Given the description of an element on the screen output the (x, y) to click on. 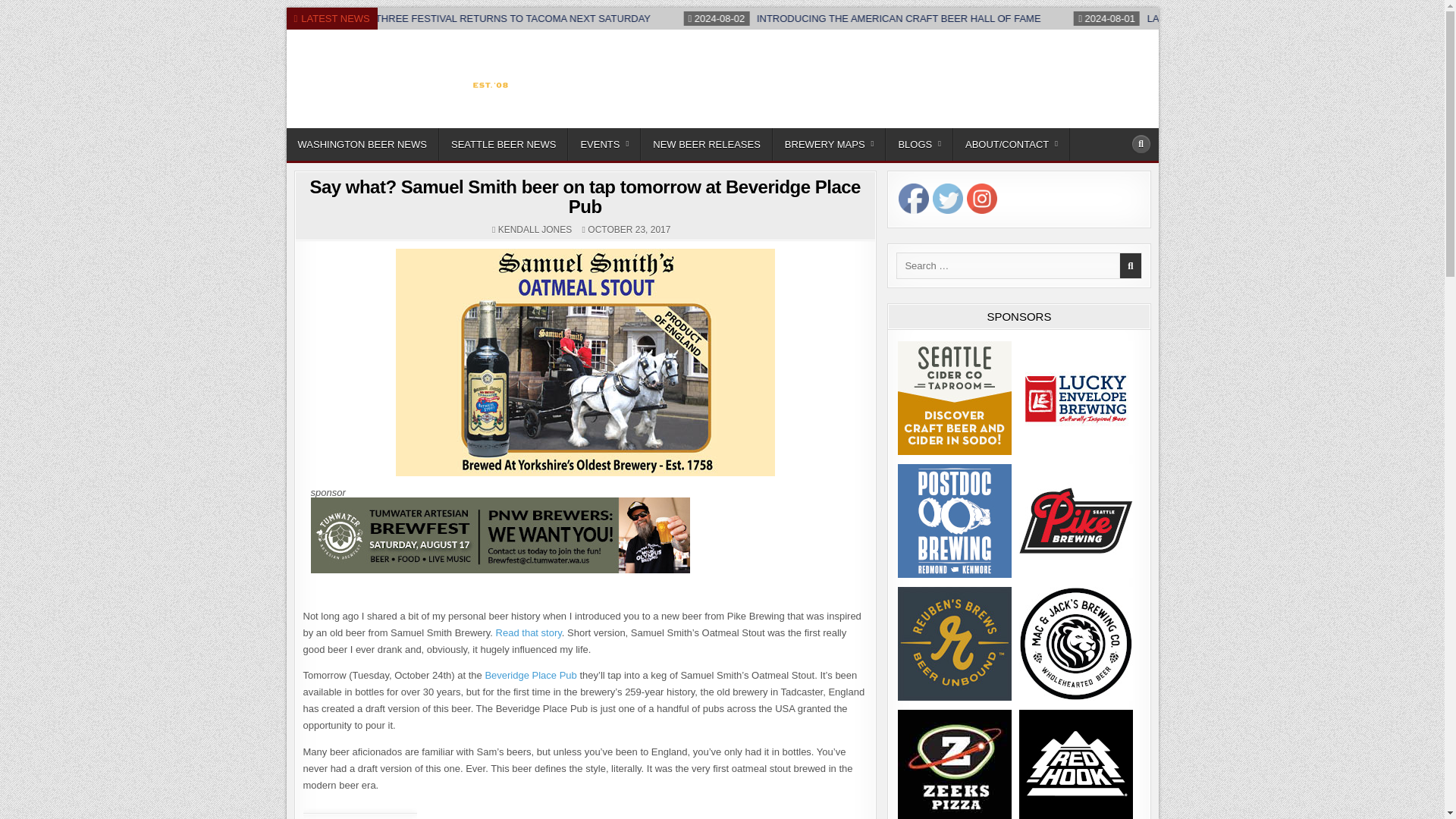
 2024-08-02 INTRODUCING THE AMERICAN CRAFT BEER HALL OF FAME (1004, 18)
The Washington Beer Blog (400, 124)
EVENTS (603, 143)
NEW BEER RELEASES (706, 143)
SEATTLE BEER NEWS (503, 143)
BREWERY MAPS (829, 143)
WASHINGTON BEER NEWS (362, 143)
KENDALL JONES (534, 229)
BLOGS (919, 143)
